Given the description of an element on the screen output the (x, y) to click on. 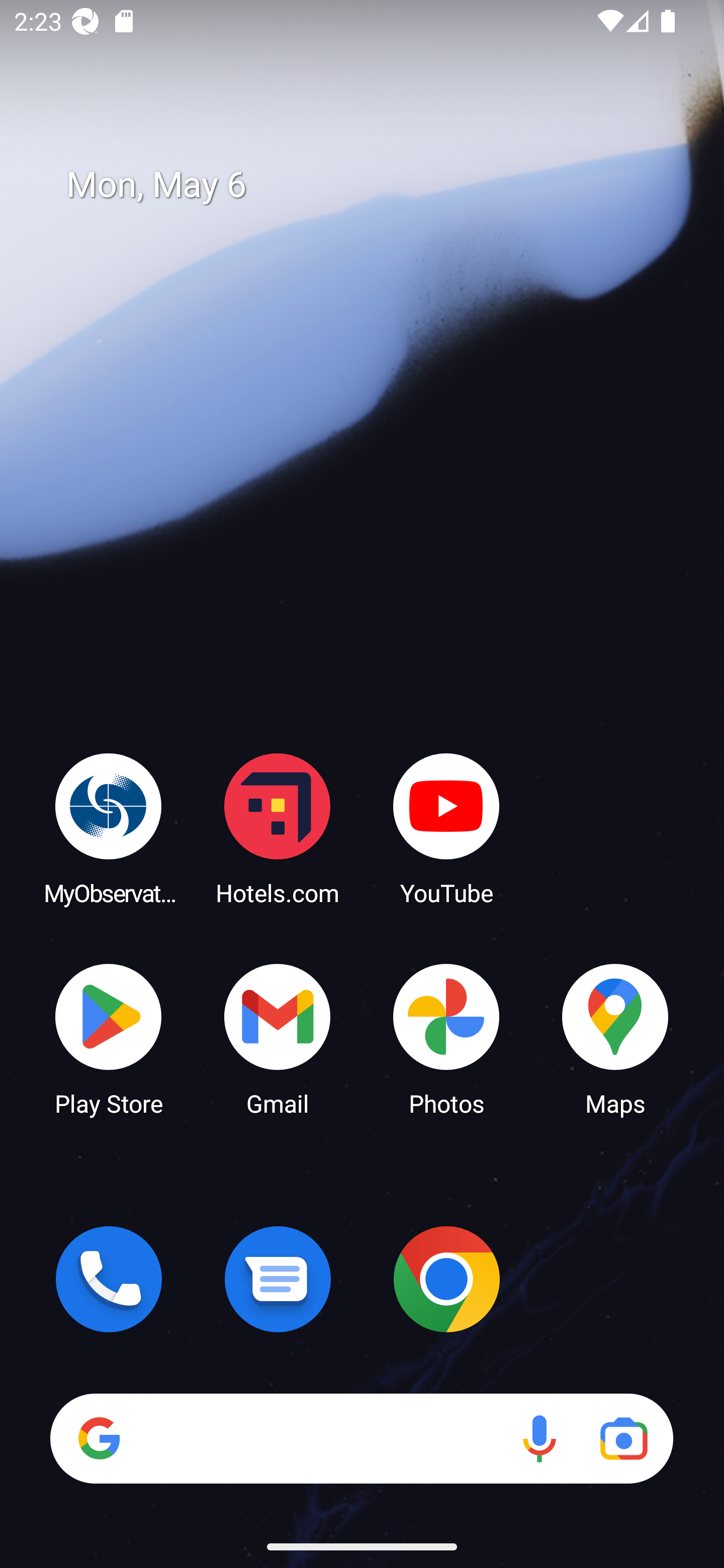
Mon, May 6 (375, 184)
MyObservatory (108, 828)
Hotels.com (277, 828)
YouTube (445, 828)
Play Store (108, 1038)
Gmail (277, 1038)
Photos (445, 1038)
Maps (615, 1038)
Phone (108, 1279)
Messages (277, 1279)
Chrome (446, 1279)
Search Voice search Google Lens (361, 1438)
Voice search (539, 1438)
Google Lens (623, 1438)
